Given the description of an element on the screen output the (x, y) to click on. 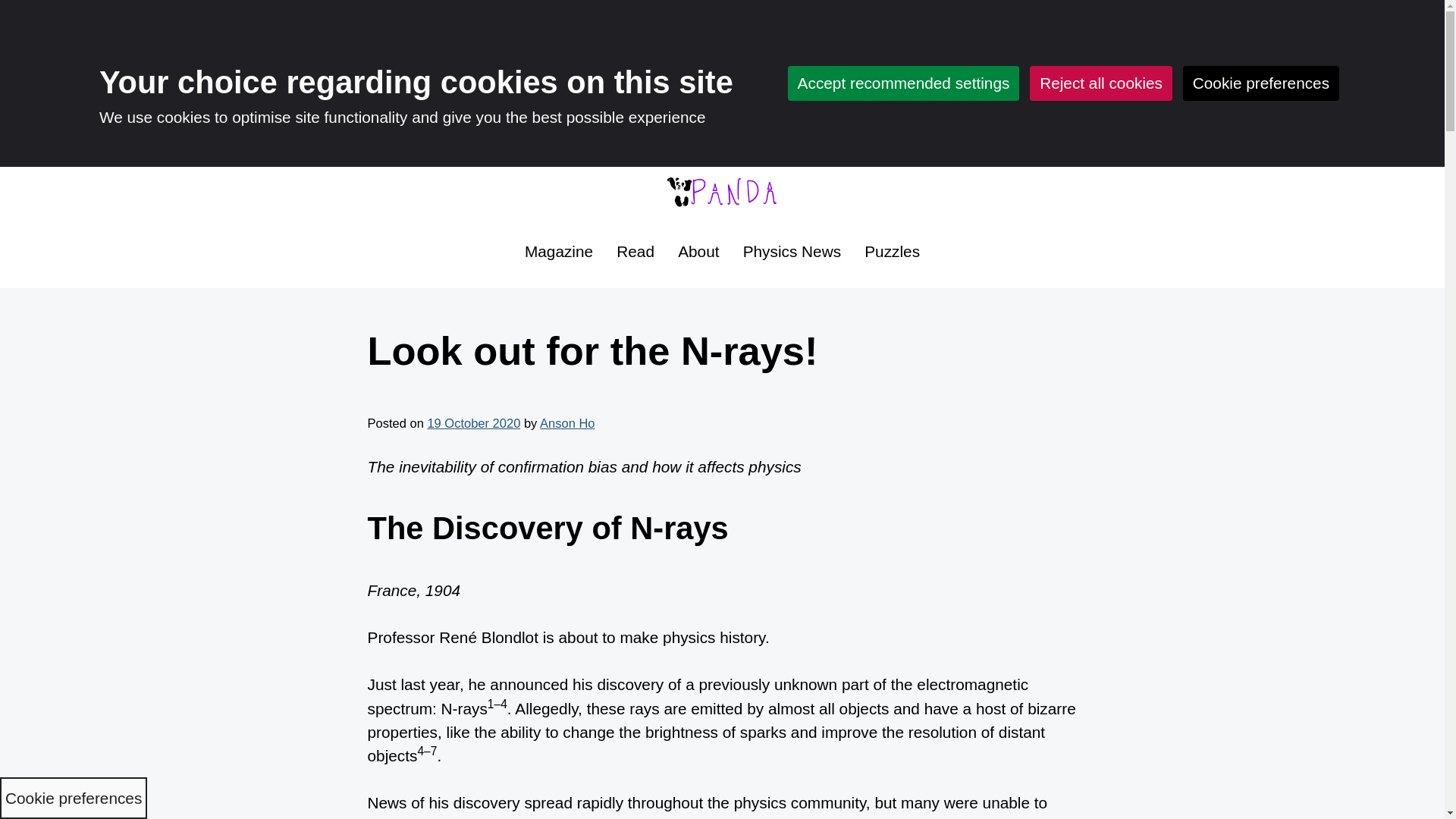
Cookie preferences (1260, 82)
Accept recommended settings (903, 82)
Reject all cookies (1100, 82)
Puzzles (892, 251)
19 October 2020 (472, 422)
Anson Ho (567, 422)
Read (635, 251)
About (697, 251)
Magazine (558, 251)
Physics News (791, 251)
